Given the description of an element on the screen output the (x, y) to click on. 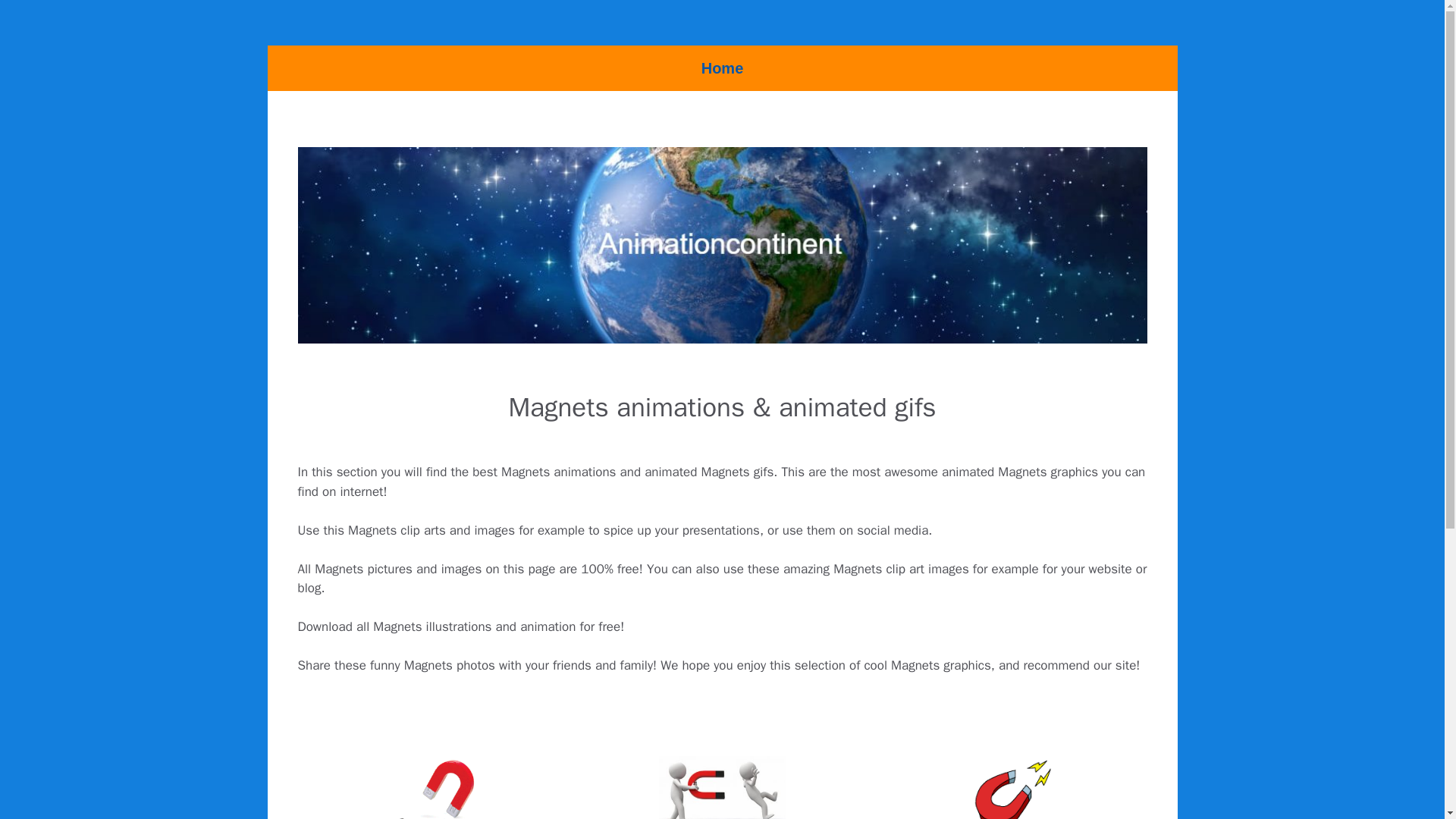
Home (721, 67)
